Given the description of an element on the screen output the (x, y) to click on. 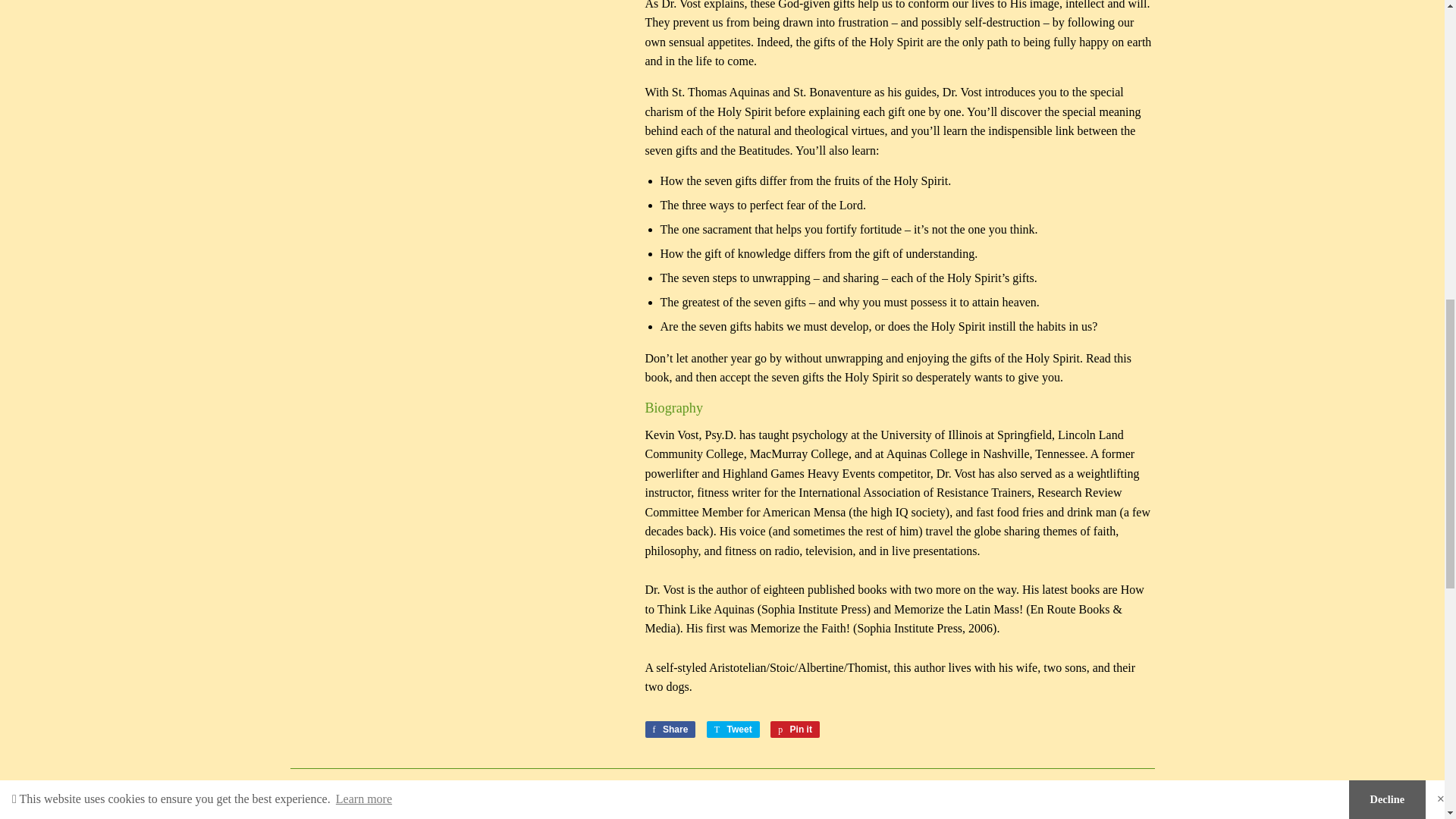
Tweet on Twitter (733, 729)
Share on Facebook (670, 729)
Pin on Pinterest (794, 729)
